Given the description of an element on the screen output the (x, y) to click on. 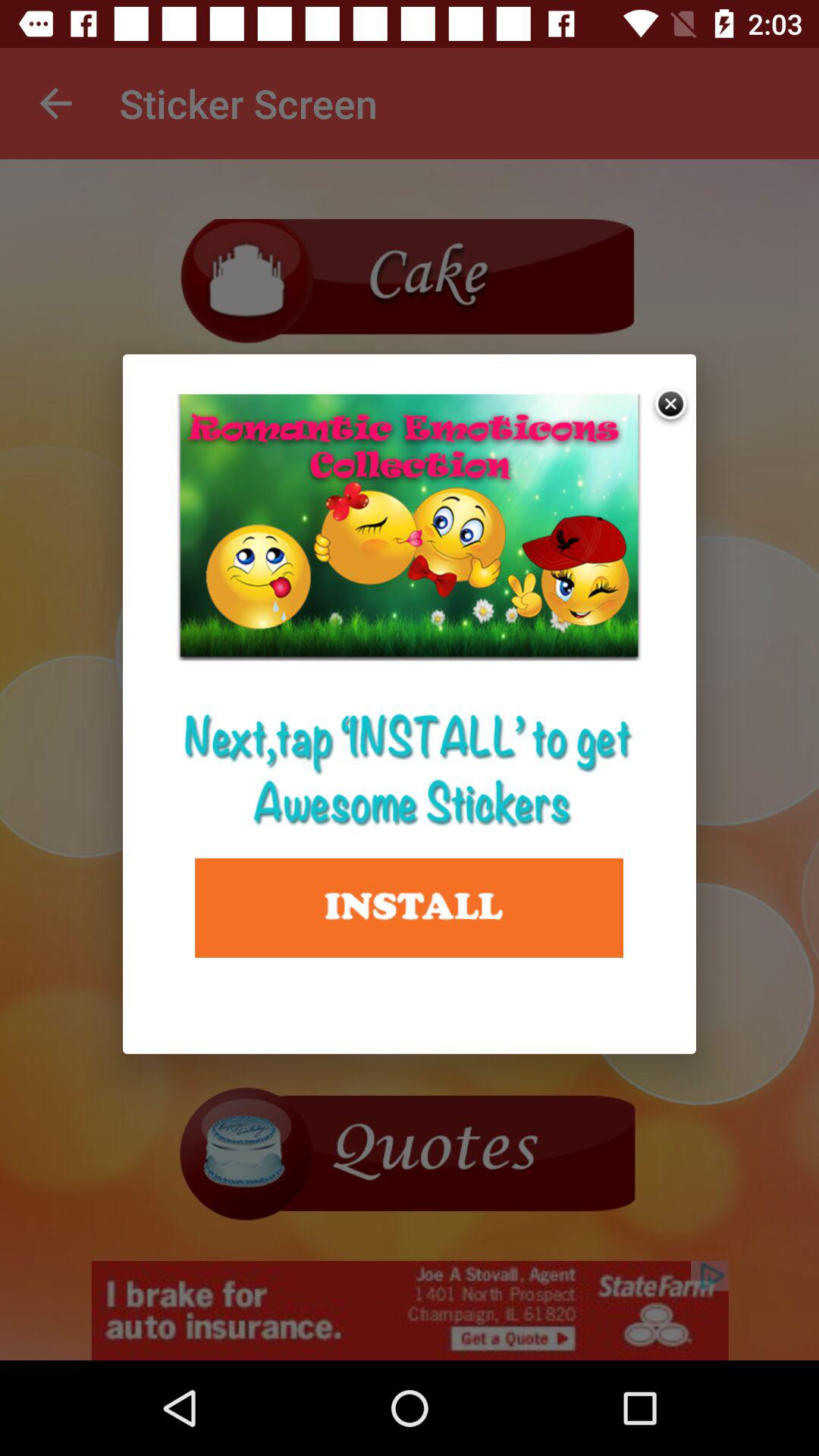
exit advertisement (672, 405)
